Given the description of an element on the screen output the (x, y) to click on. 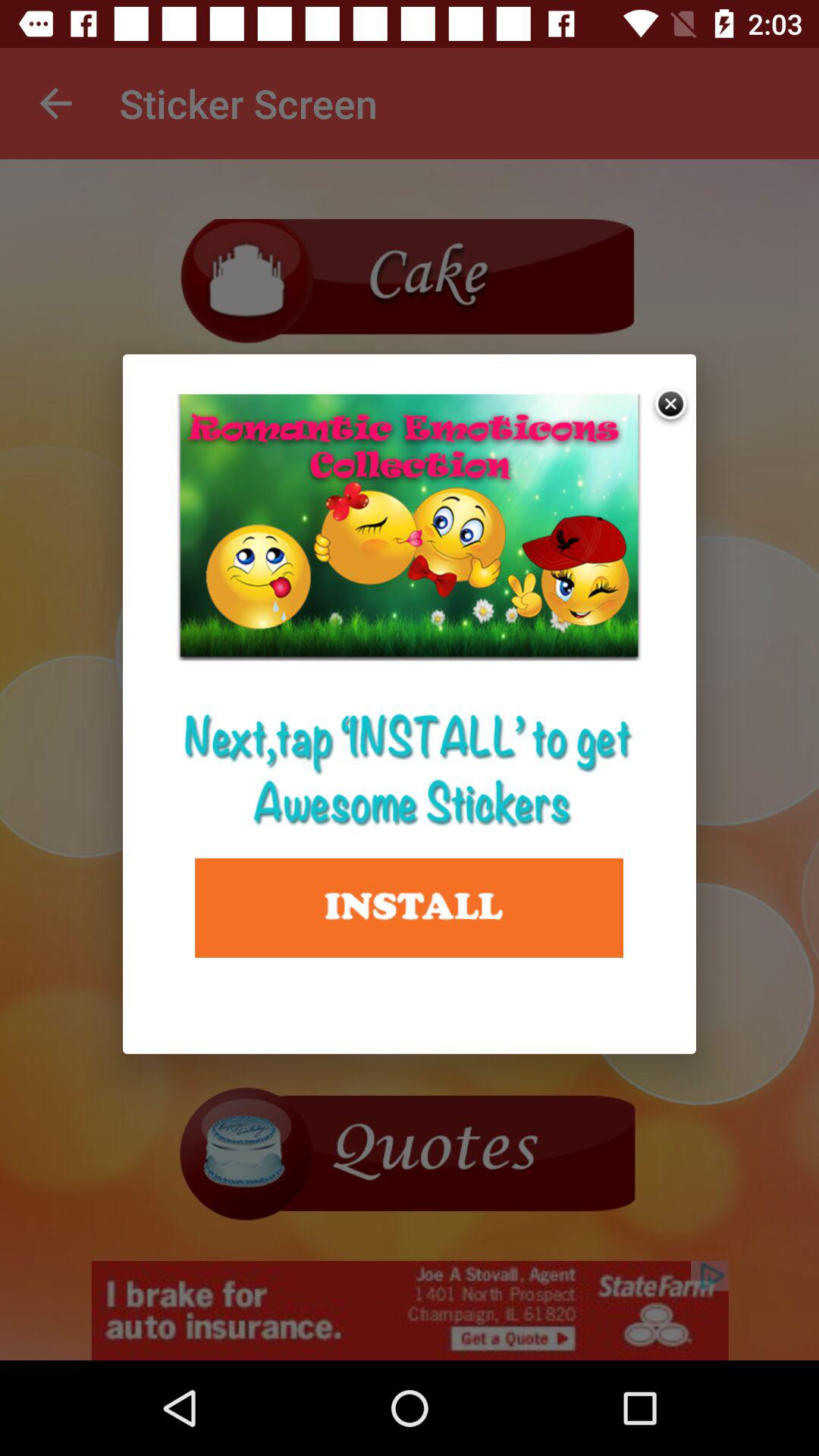
exit advertisement (672, 405)
